Given the description of an element on the screen output the (x, y) to click on. 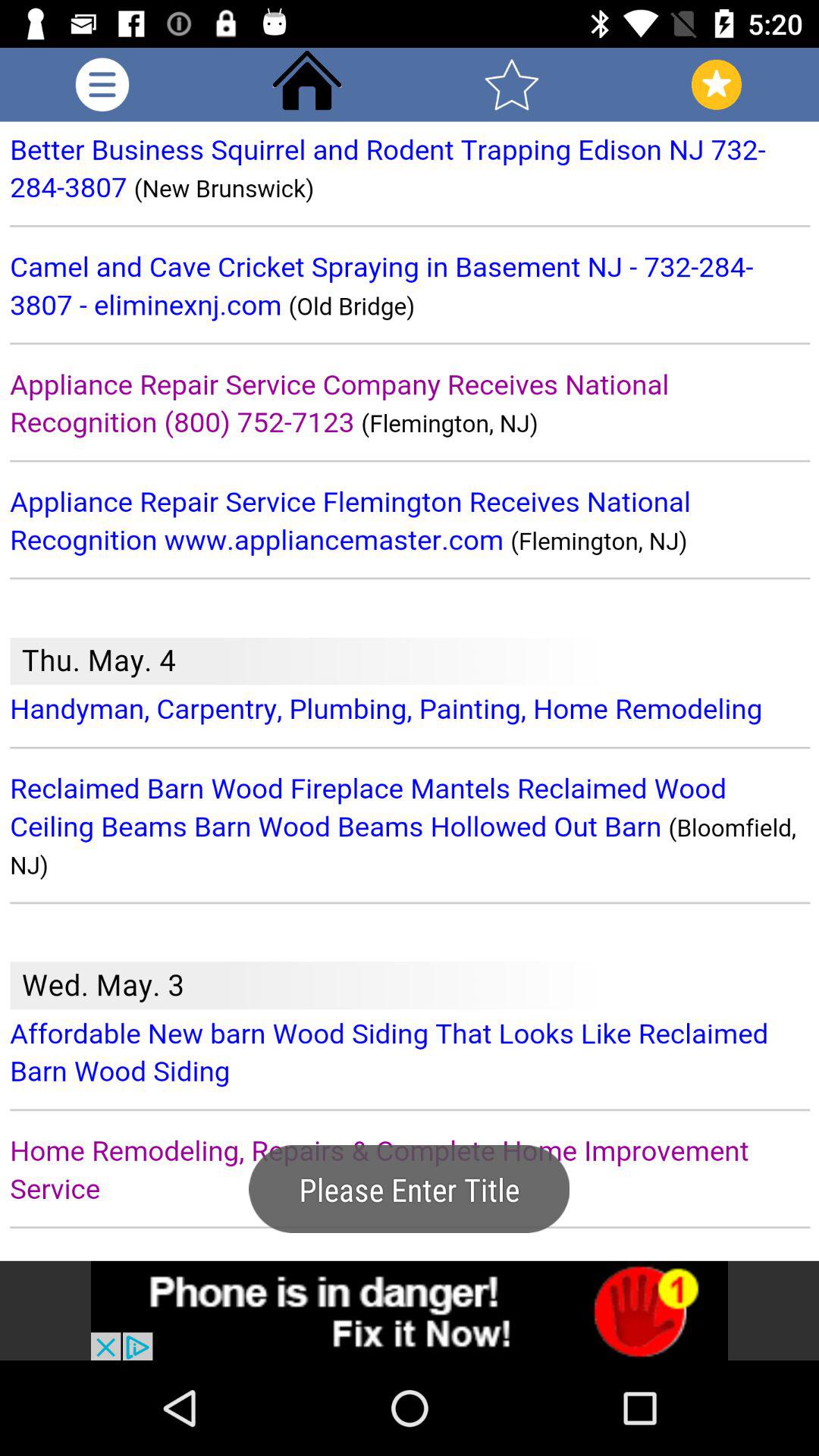
go to home page (306, 84)
